Given the description of an element on the screen output the (x, y) to click on. 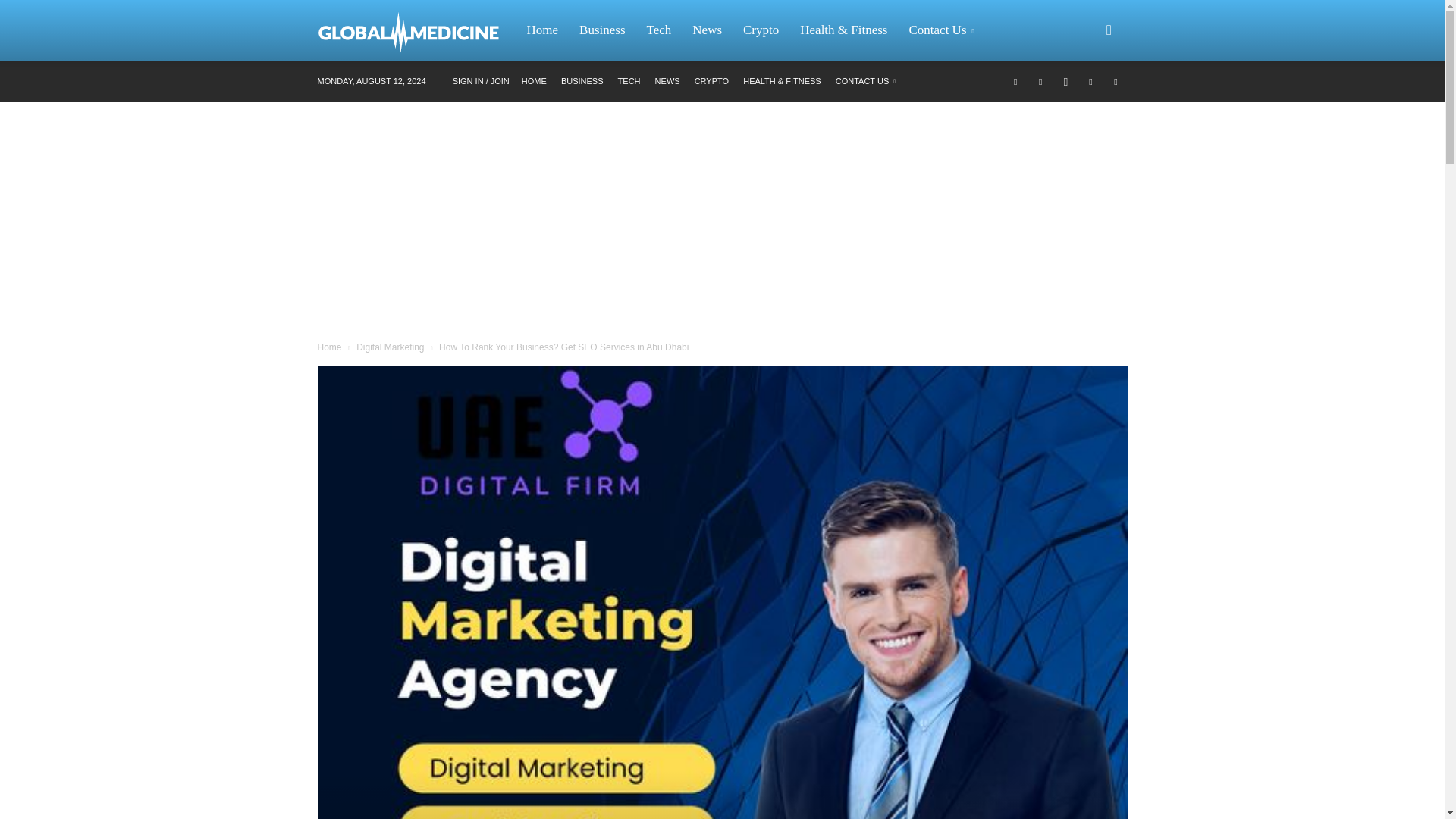
HOME (534, 80)
TECH (628, 80)
Contact Us (944, 30)
BUSINESS (582, 80)
NEWS (667, 80)
View all posts in Digital Marketing (389, 347)
Business (601, 30)
DailyTimeZone (416, 30)
